Given the description of an element on the screen output the (x, y) to click on. 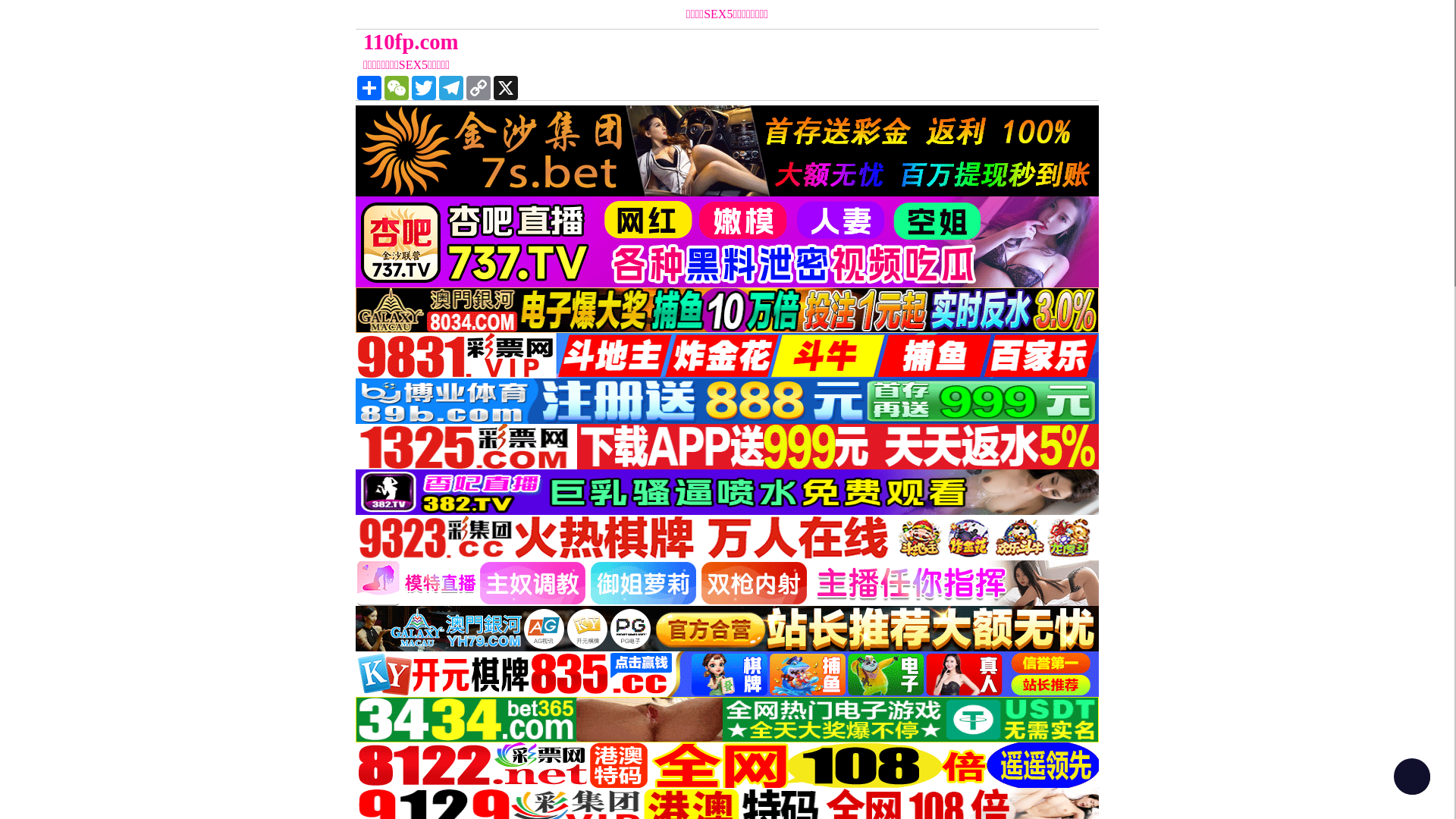
Telegram Element type: text (450, 87)
Twitter Element type: text (423, 87)
110fp.com Element type: text (634, 41)
Copy Link Element type: text (478, 87)
X Element type: text (505, 87)
WeChat Element type: text (396, 87)
